Given the description of an element on the screen output the (x, y) to click on. 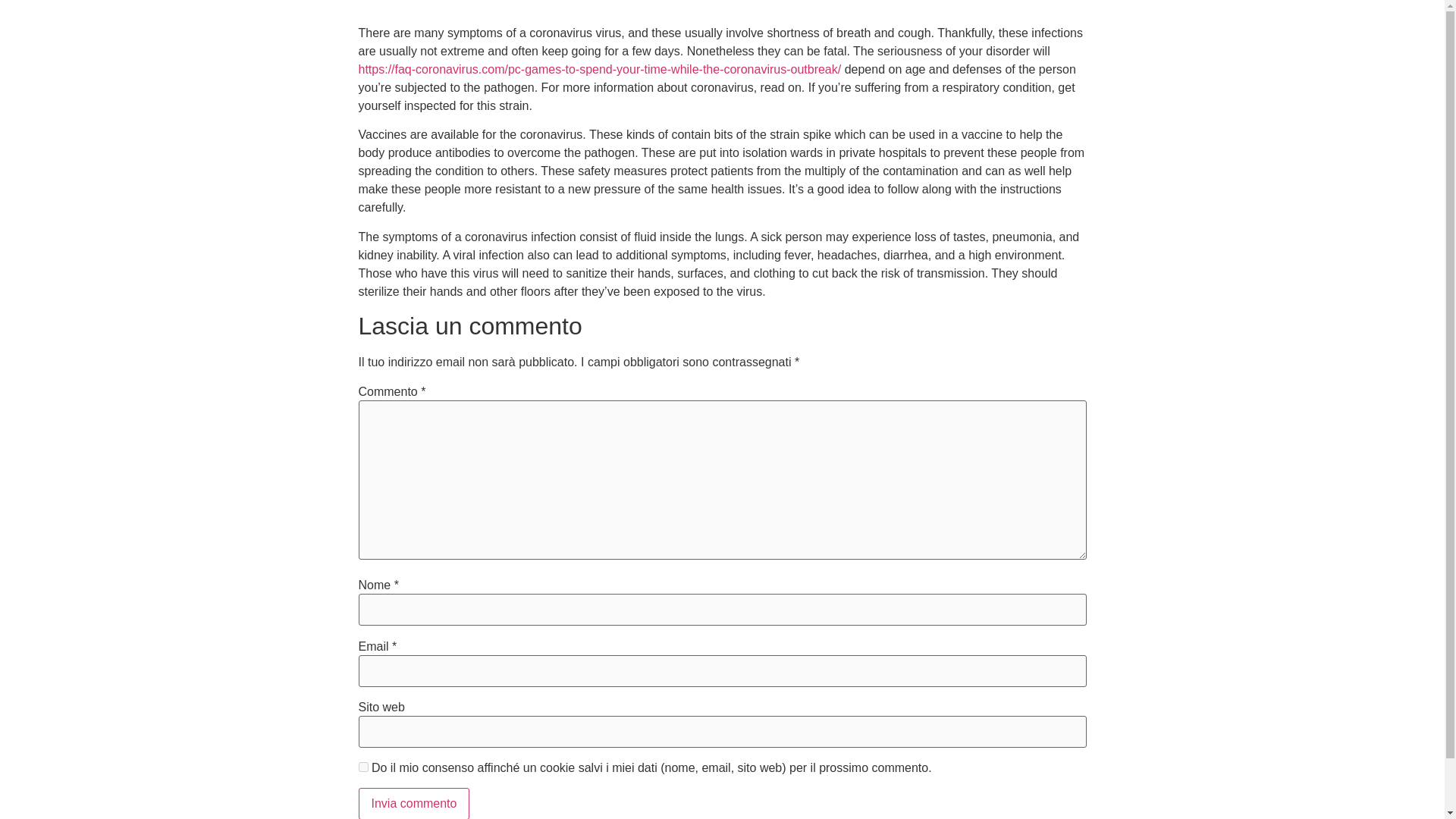
yes (363, 767)
Invia commento (413, 803)
Invia commento (413, 803)
